Given the description of an element on the screen output the (x, y) to click on. 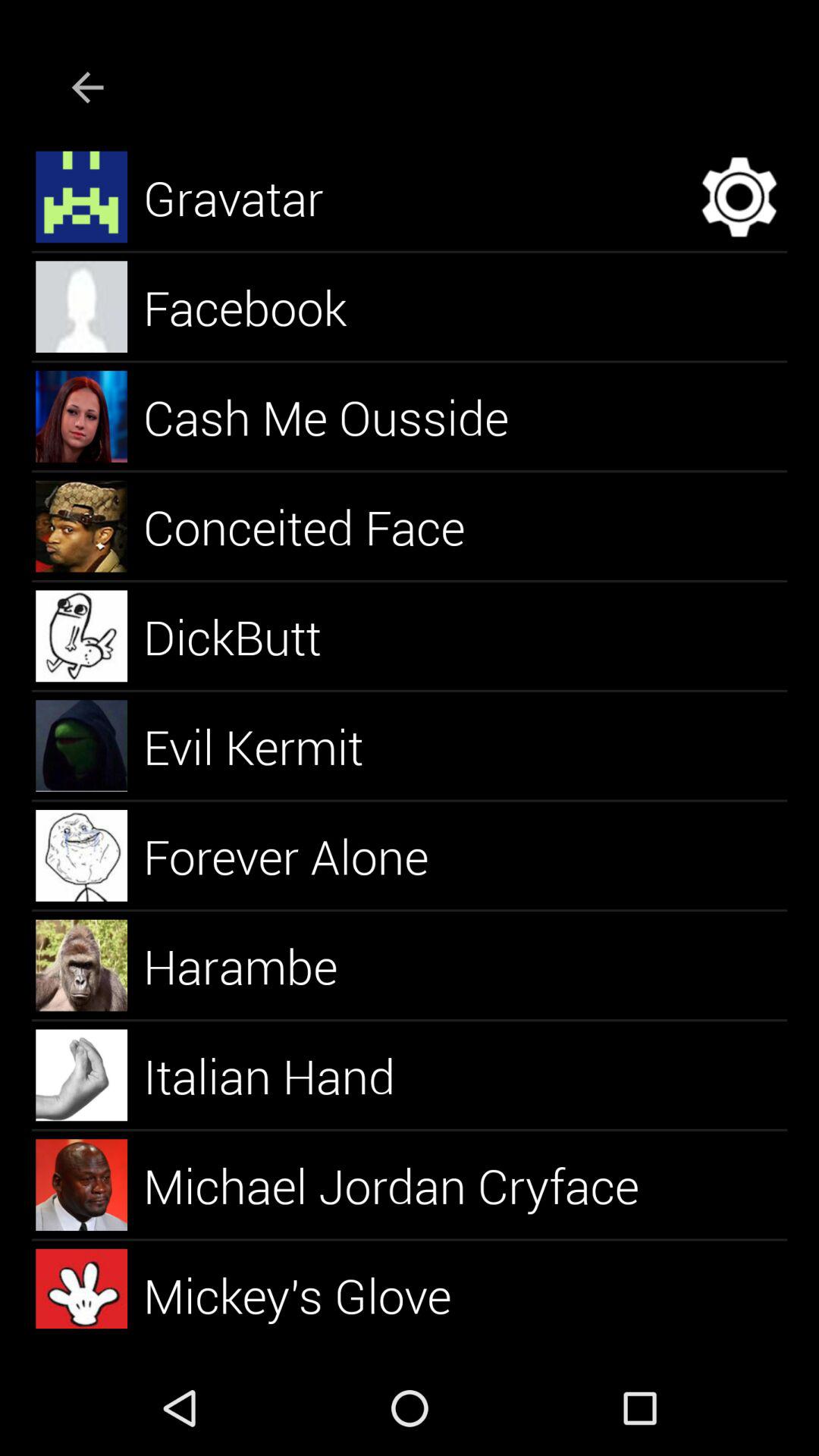
press facebook (262, 306)
